Given the description of an element on the screen output the (x, y) to click on. 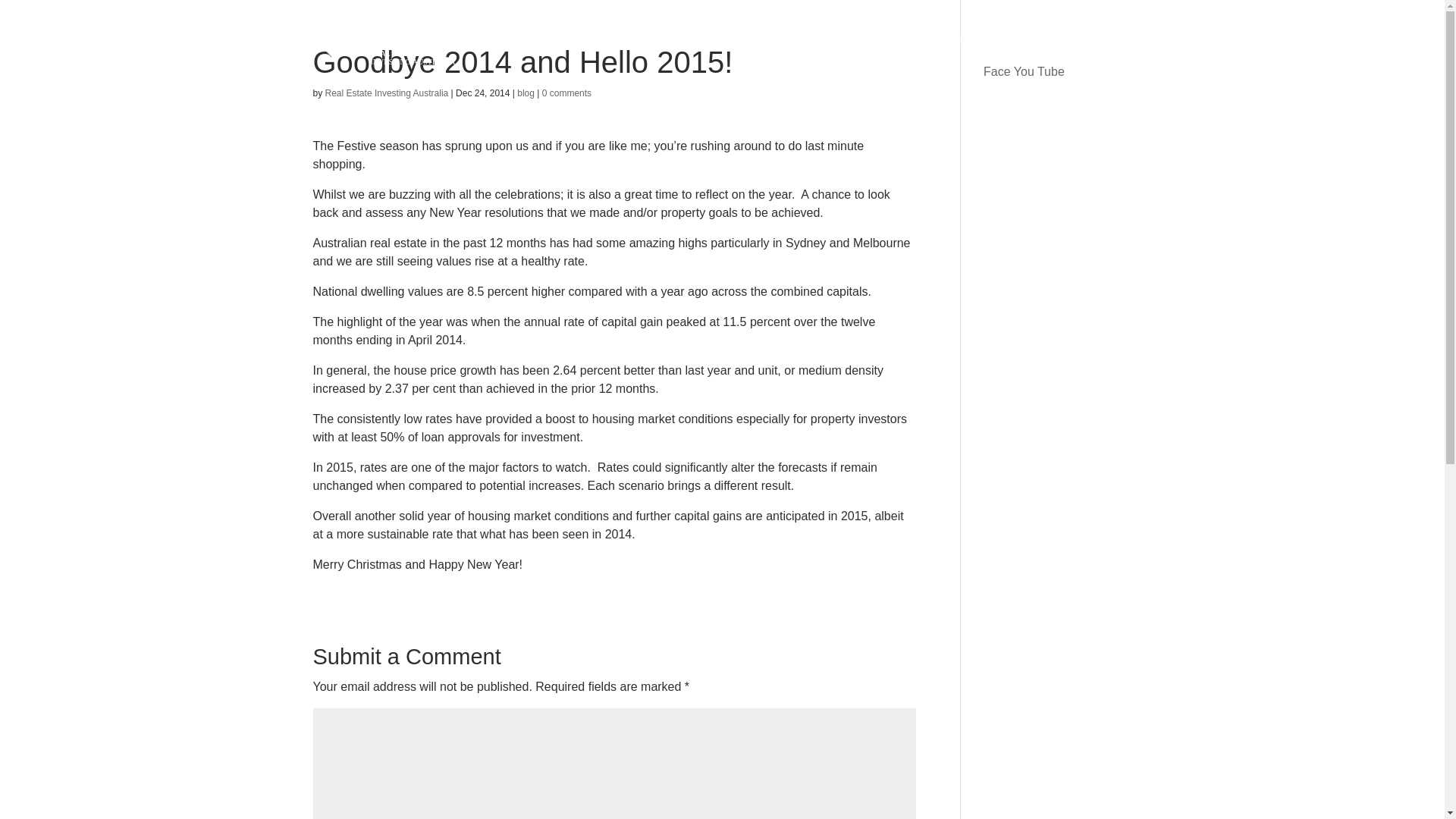
WHY CHOOSE US (935, 43)
ABOUT (834, 43)
You Tube (1038, 71)
HOME (628, 43)
Posts by Real Estate Investing Australia (386, 92)
Real Estate Investing Australia (386, 92)
UPCOMING EVENTS (725, 43)
FAQ (1019, 43)
Face (997, 71)
blog (525, 92)
